Given the description of an element on the screen output the (x, y) to click on. 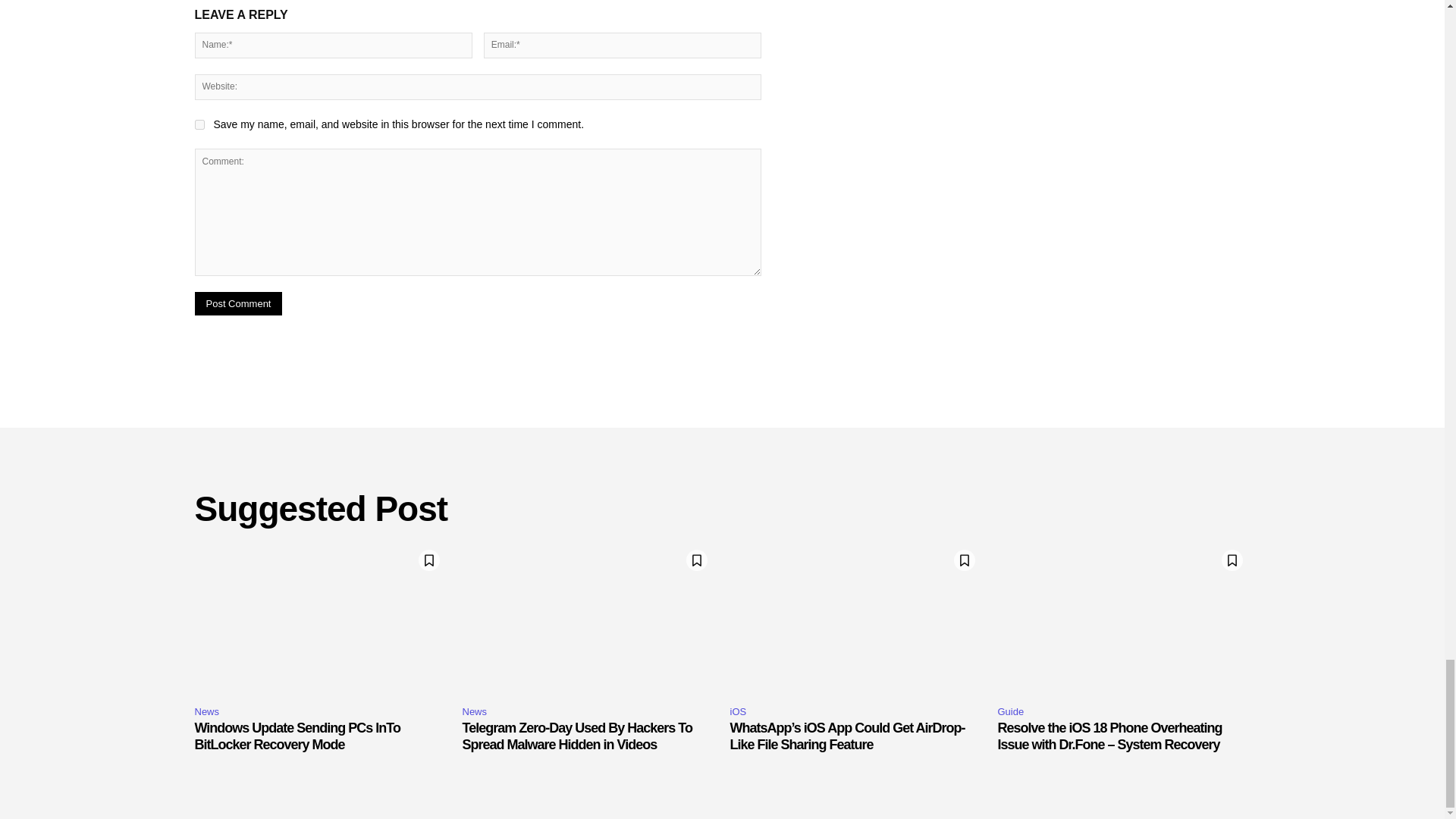
yes (198, 124)
Post Comment (237, 303)
Post Comment (237, 303)
